Given the description of an element on the screen output the (x, y) to click on. 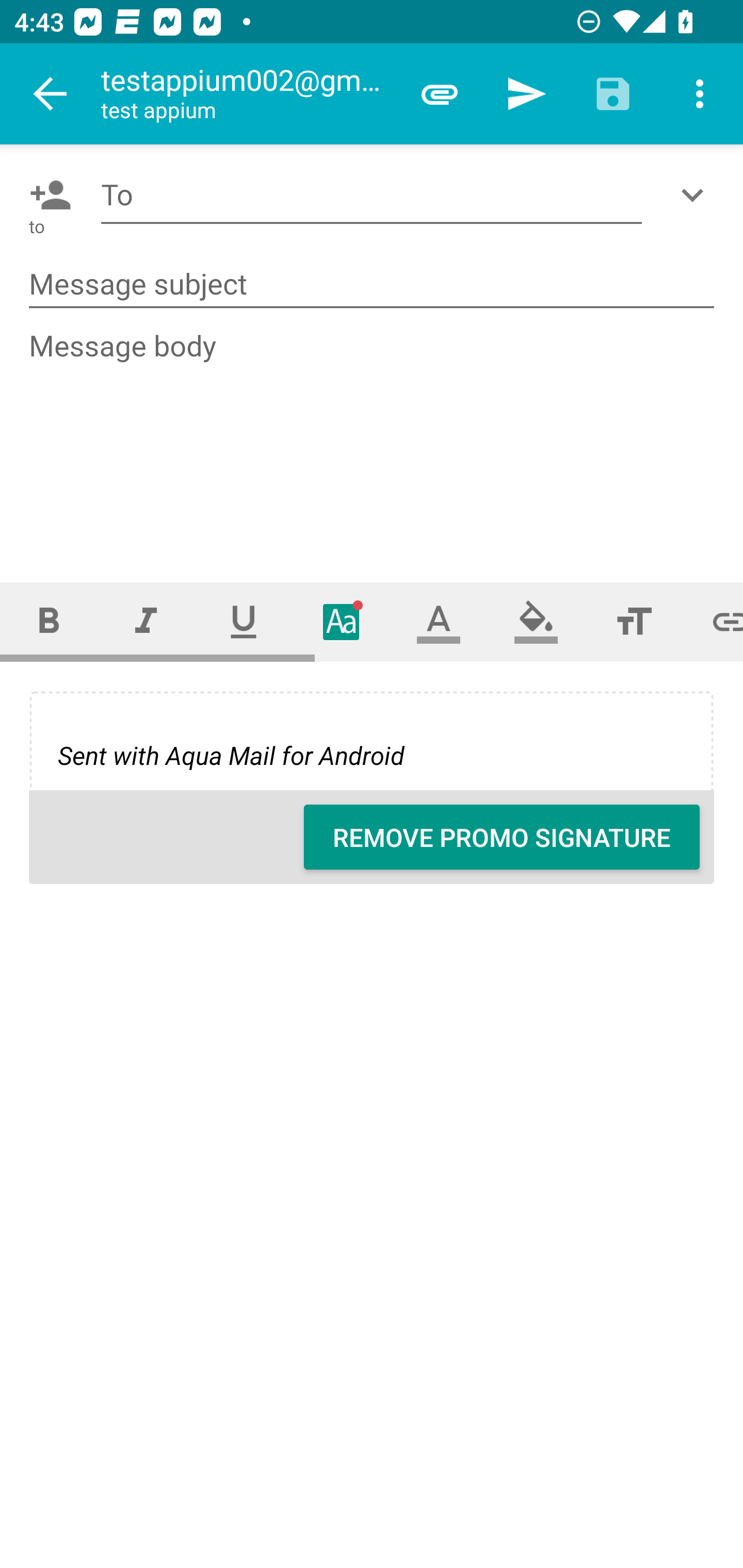
Navigate up (50, 93)
testappium002@gmail.com test appium (248, 93)
Attach (439, 93)
Send (525, 93)
Save (612, 93)
More options (699, 93)
Pick contact: To (46, 195)
Show/Add CC/BCC (696, 195)
To (371, 195)
Message subject (371, 284)
Message body (372, 438)
Bold (48, 621)
Italic (145, 621)
Underline (243, 621)
Typeface (font) (341, 621)
Text color (438, 621)
Fill color (536, 621)
Font size (633, 621)
Set link (712, 621)
REMOVE PROMO SIGNATURE (501, 837)
